Given the description of an element on the screen output the (x, y) to click on. 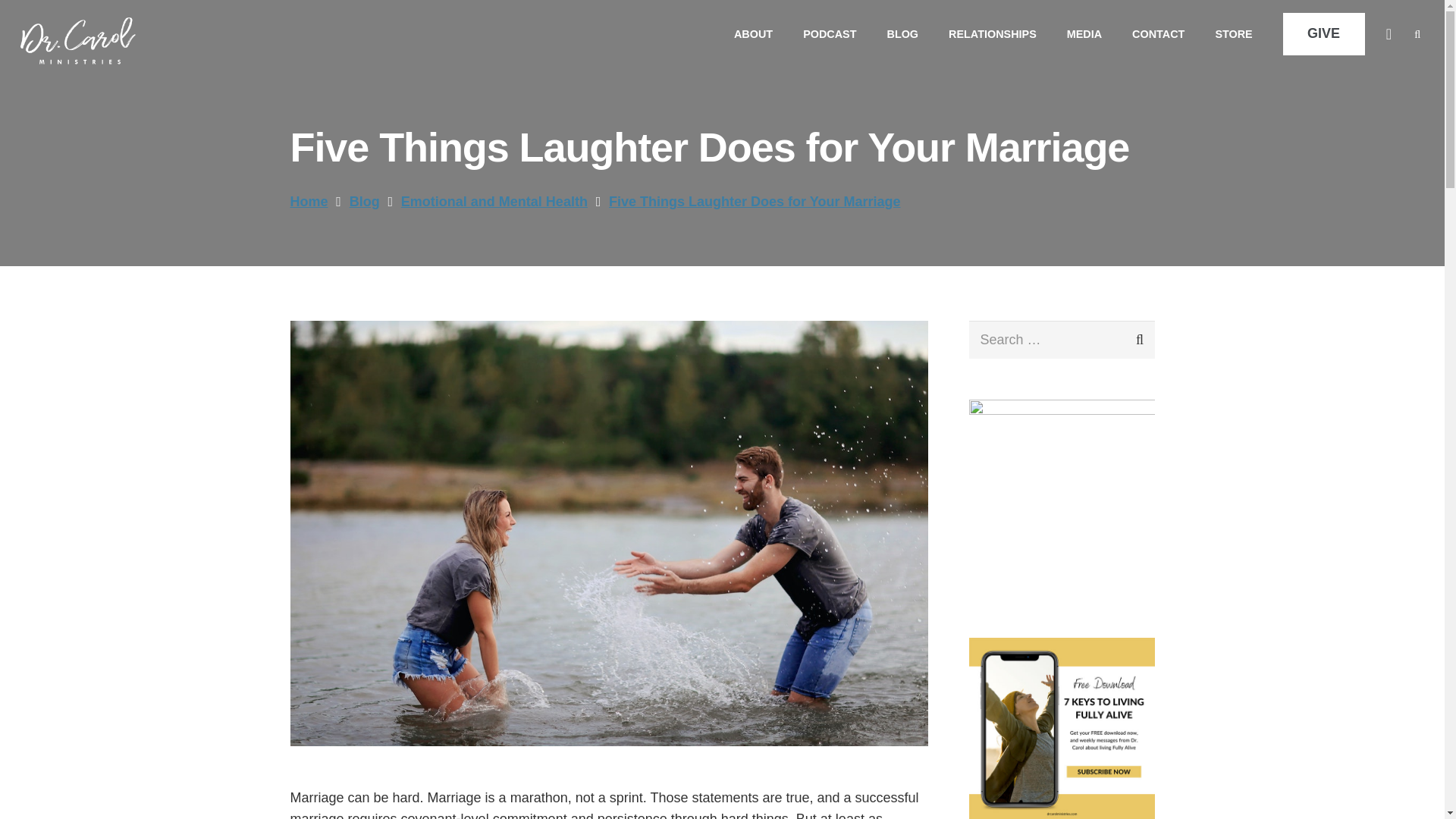
Emotional and Mental Health (494, 201)
Home (308, 201)
Blog (364, 201)
GIVE (1323, 34)
RELATIONSHIPS (992, 33)
Search (1128, 339)
Five Things Laughter Does for Your Marriage (753, 201)
BLOG (901, 33)
ABOUT (753, 33)
CONTACT (1157, 33)
